Given the description of an element on the screen output the (x, y) to click on. 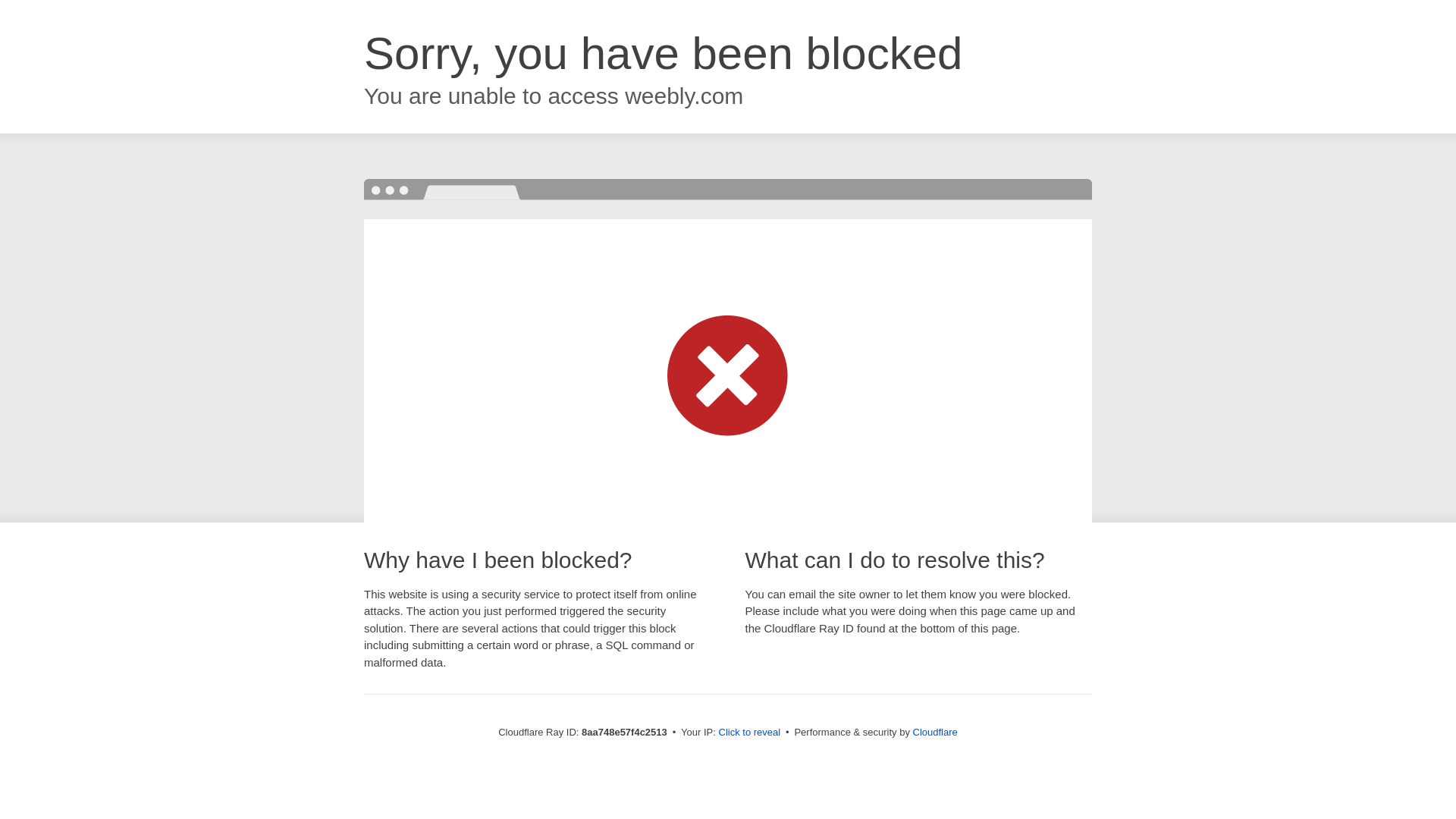
Cloudflare (935, 731)
Click to reveal (749, 732)
